Given the description of an element on the screen output the (x, y) to click on. 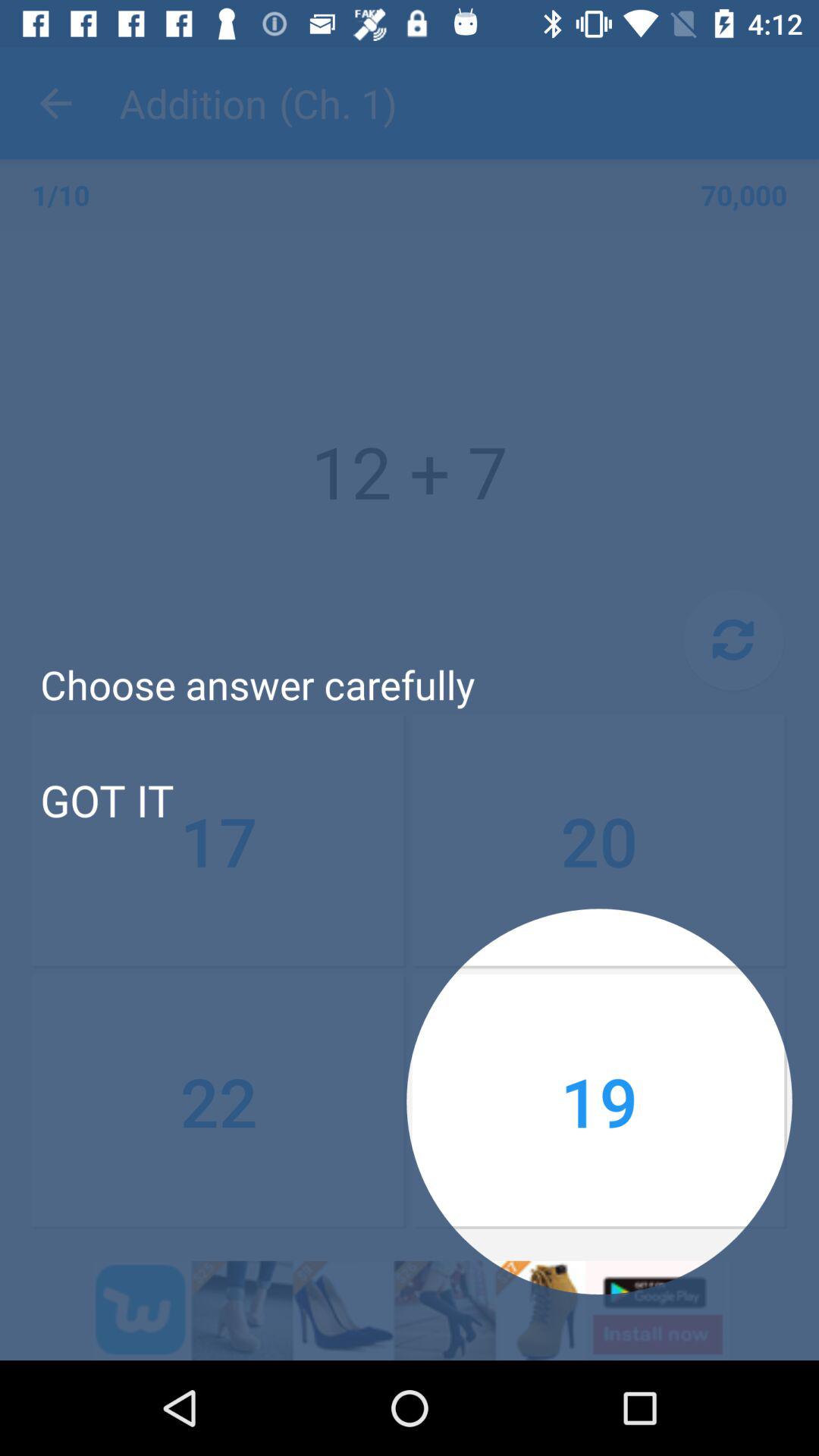
turn on item above 20 (733, 639)
